Given the description of an element on the screen output the (x, y) to click on. 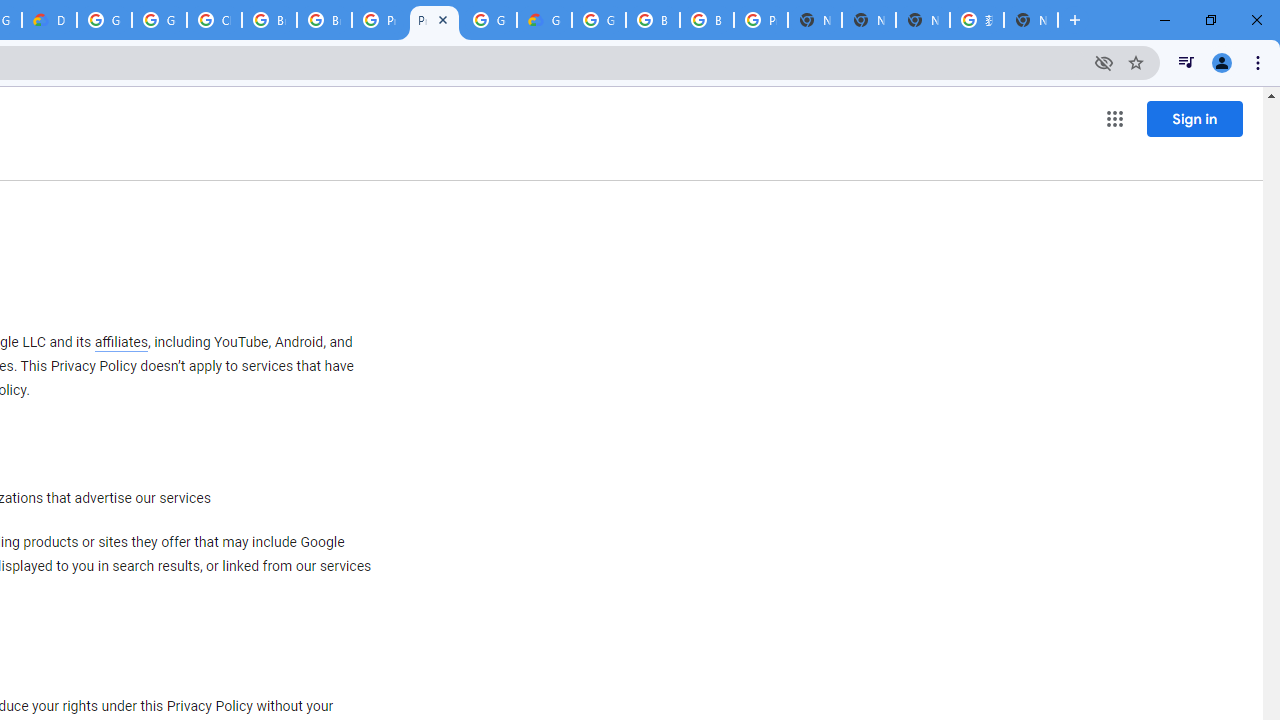
Browse Chrome as a guest - Computer - Google Chrome Help (706, 20)
Browse Chrome as a guest - Computer - Google Chrome Help (324, 20)
Control your music, videos, and more (1185, 62)
New Tab (1030, 20)
affiliates (120, 342)
